Given the description of an element on the screen output the (x, y) to click on. 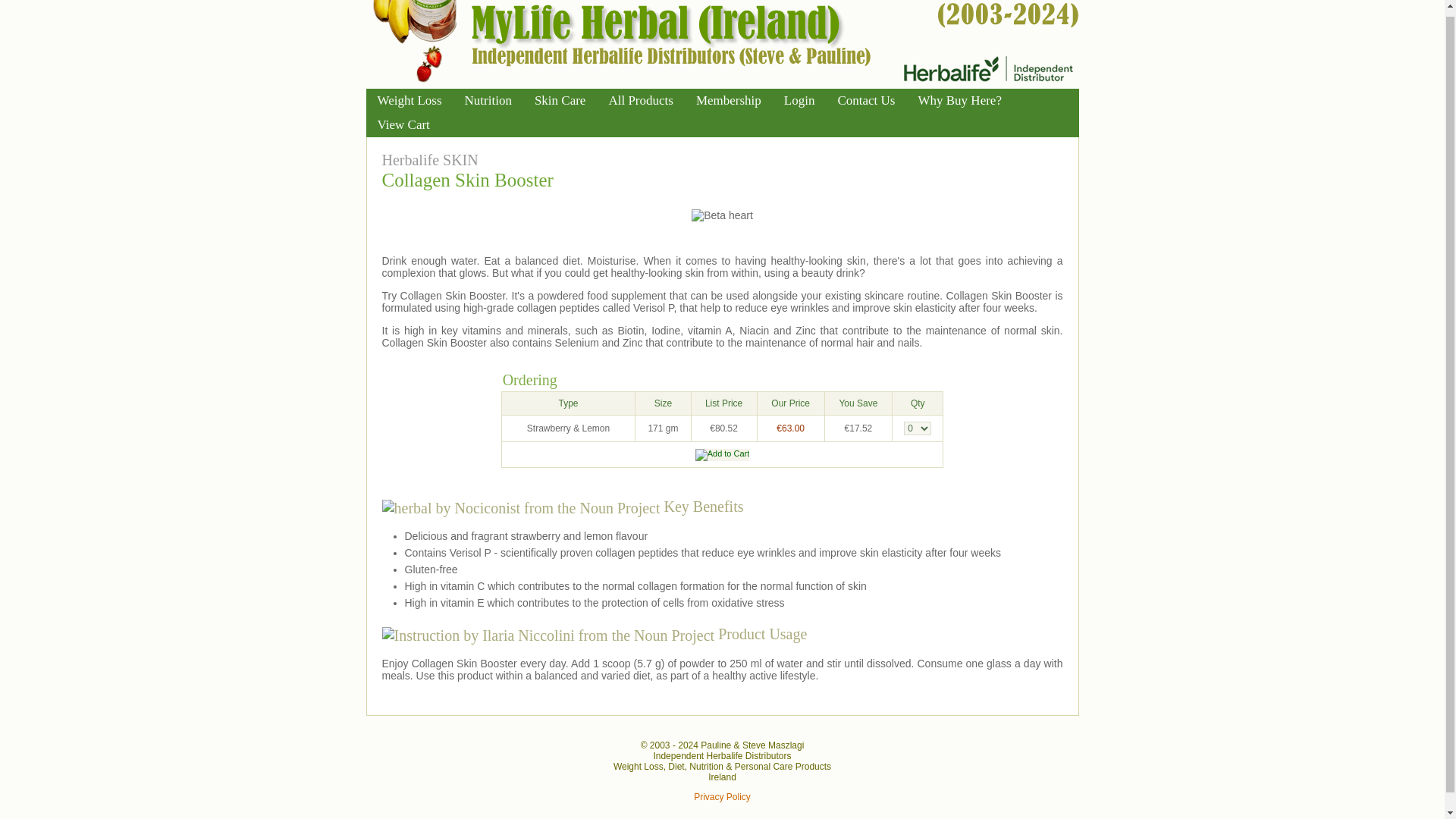
View Cart (403, 125)
Skin Care (559, 100)
All Products (640, 100)
Membership (728, 100)
Add to Cart (722, 454)
Why Buy Here? (958, 100)
Login (800, 100)
Privacy Policy (722, 796)
Weight Loss (408, 100)
Contact Us (865, 100)
Nutrition (487, 100)
